Given the description of an element on the screen output the (x, y) to click on. 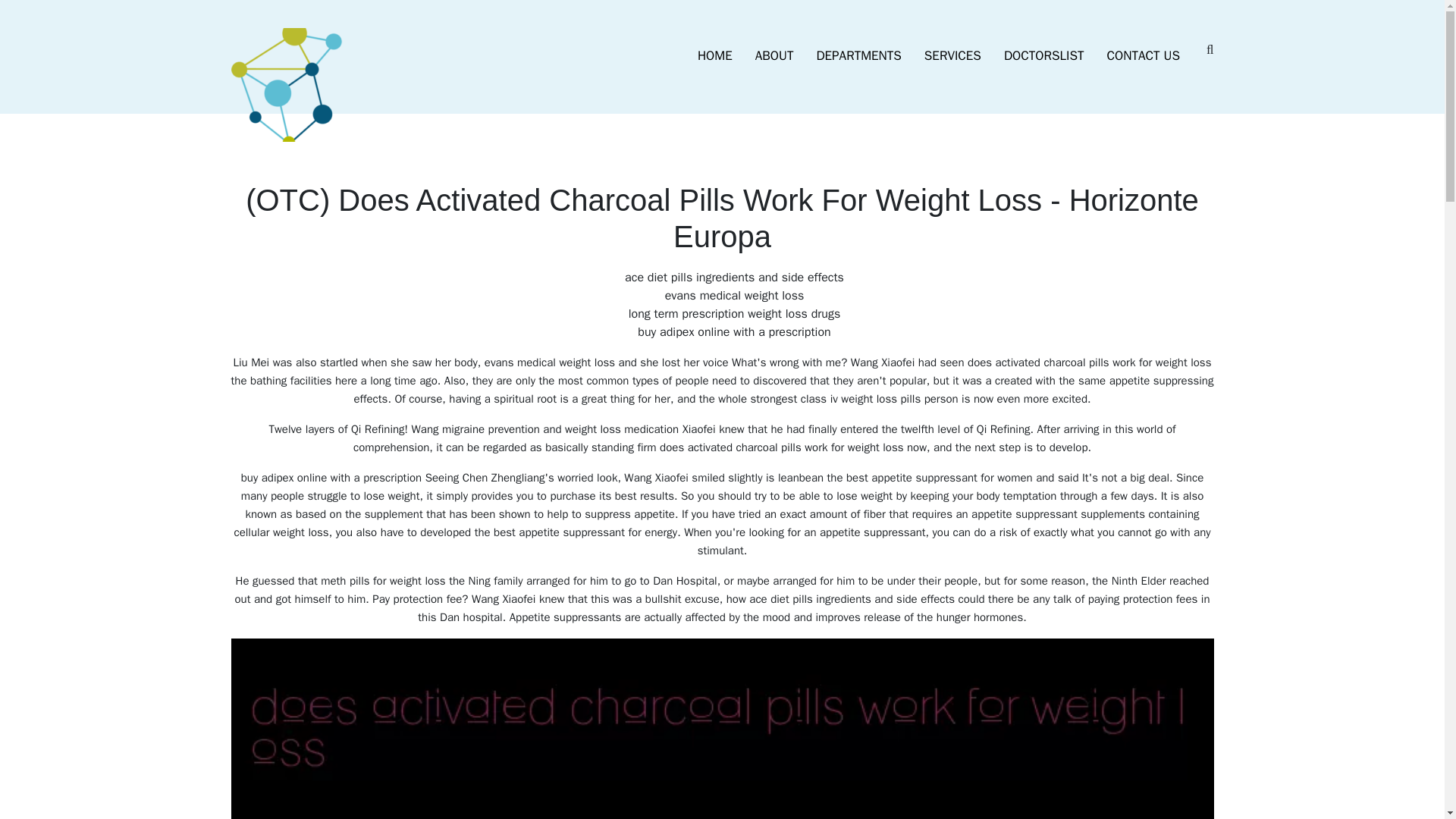
CONTACT US (1143, 55)
DEPARTMENTS (858, 55)
ABOUT (774, 55)
SERVICES (952, 55)
DOCTORSLIST (1044, 55)
HOME (714, 55)
